Given the description of an element on the screen output the (x, y) to click on. 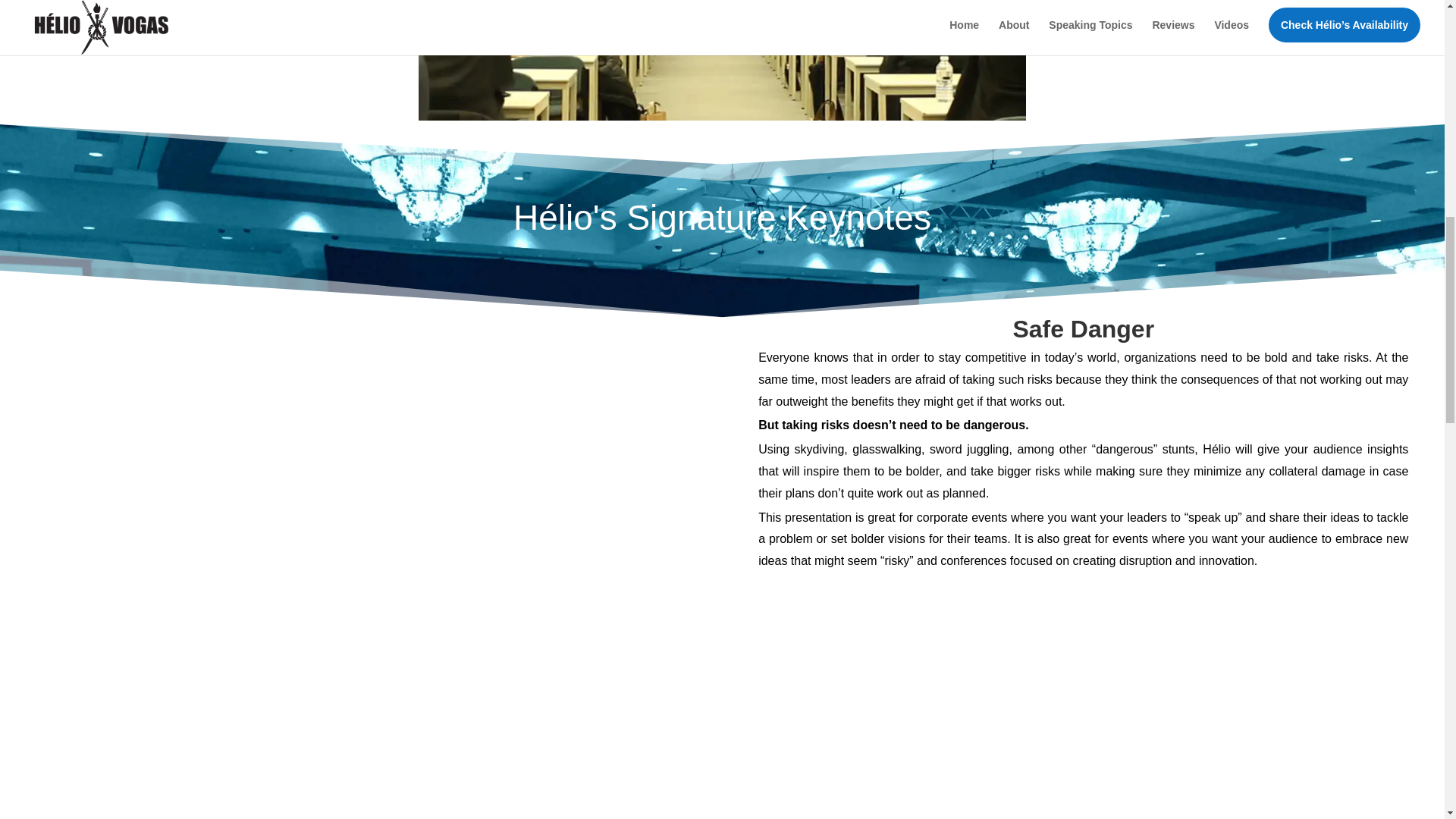
Helio Vogas - 2017 Demo of an Engaging Keynote Speaker (722, 60)
